Given the description of an element on the screen output the (x, y) to click on. 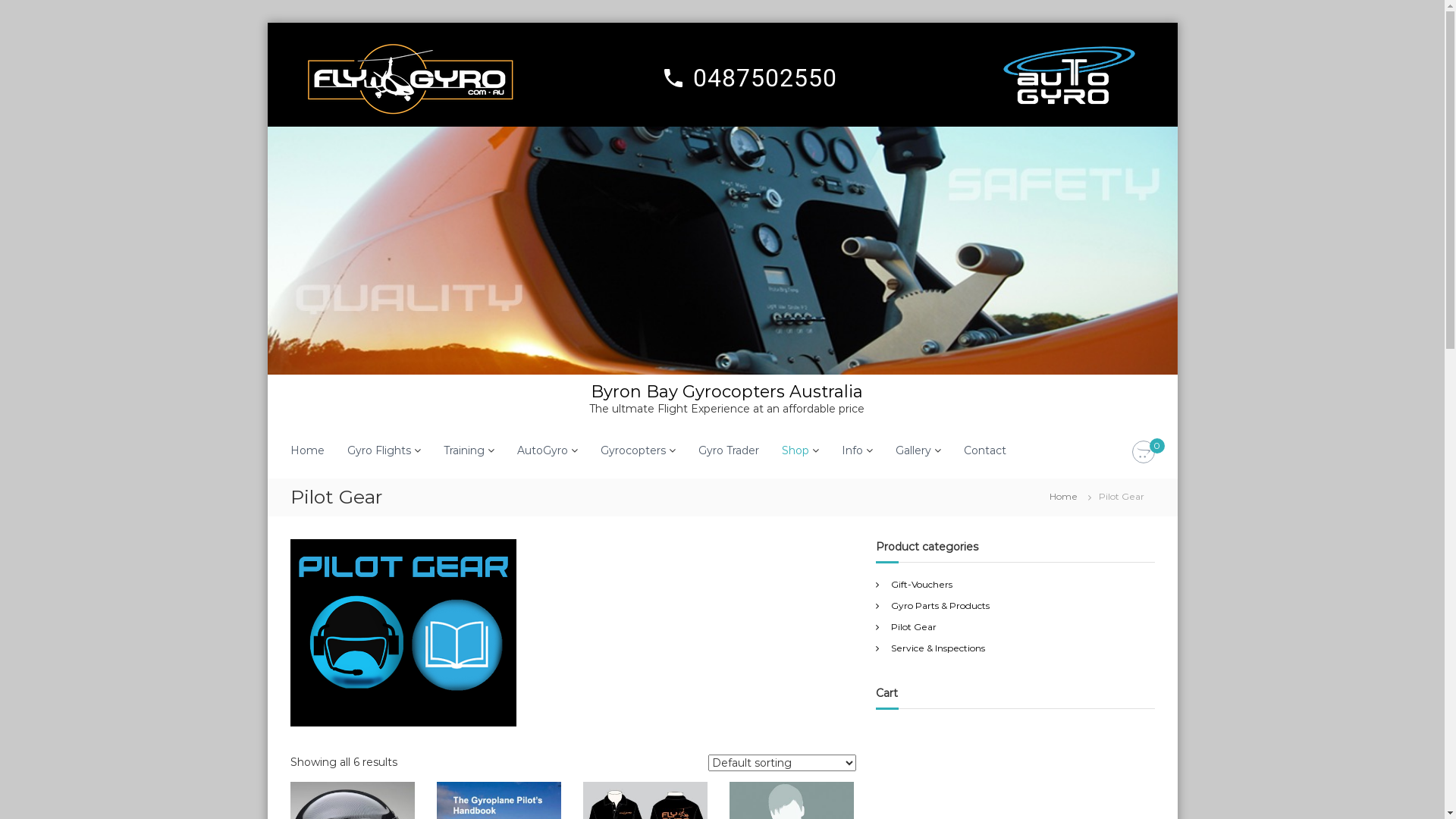
Byron Bay Gyrocopters Australia Element type: text (726, 391)
Contact Element type: text (984, 450)
Gift-Vouchers Element type: text (921, 583)
Skip to content Element type: text (266, 21)
AutoGyro Element type: text (542, 450)
Gyro Parts & Products Element type: text (940, 604)
Gyro Trader Element type: text (727, 450)
Pilot Gear Element type: text (913, 625)
0 Element type: text (1142, 452)
Service & Inspections Element type: text (938, 646)
Home Element type: text (306, 450)
Home Element type: text (1063, 496)
Training Element type: text (462, 450)
Info Element type: text (851, 450)
Gyro Flights Element type: text (379, 450)
Gyrocopters Element type: text (632, 450)
local_phone 0487502550 Element type: text (748, 77)
Gallery Element type: text (912, 450)
Shop Element type: text (794, 450)
